Given the description of an element on the screen output the (x, y) to click on. 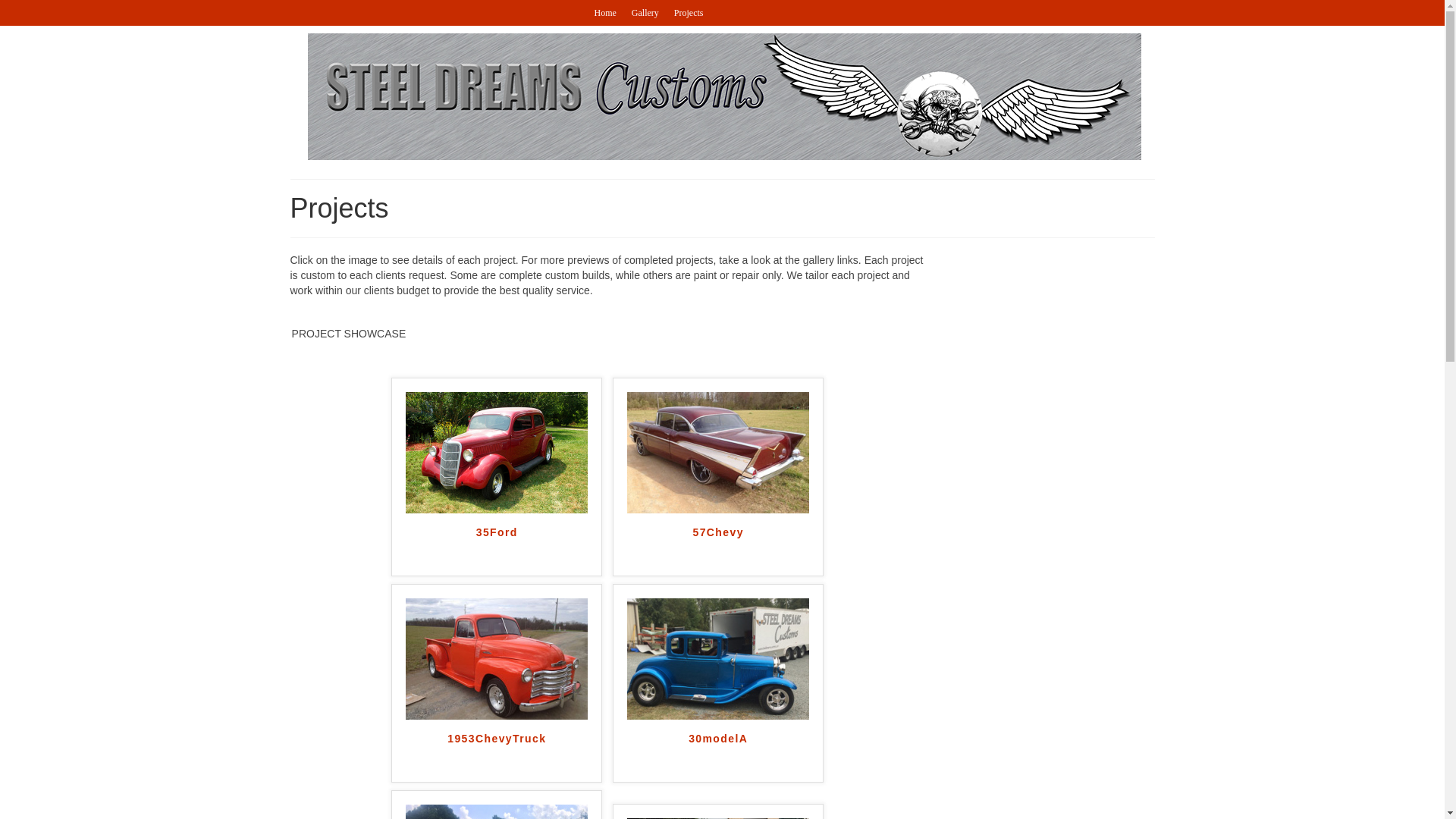
30modelA (718, 657)
35Ford (496, 547)
57Chevy (718, 547)
57Chevy (718, 547)
Home (605, 12)
35Ford (497, 451)
Projects (688, 12)
1953ChevyTruck (496, 753)
35Ford (496, 547)
30modelA (718, 753)
1953ChevyTruck (497, 657)
Gallery (645, 12)
1953ChevyTruck (496, 753)
57Chevy (718, 451)
30modelA (718, 753)
